Given the description of an element on the screen output the (x, y) to click on. 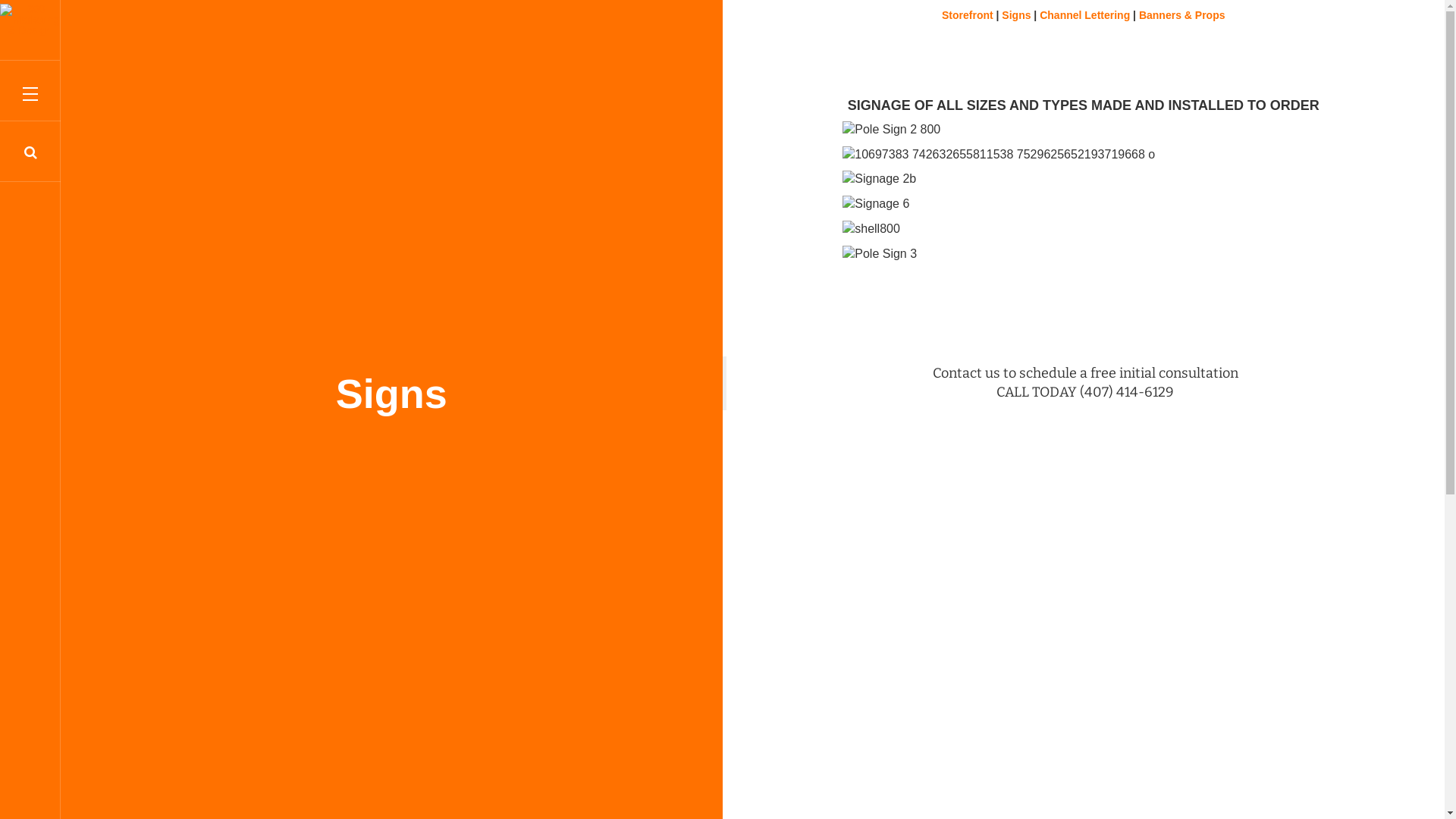
Signs Element type: text (1015, 15)
360 Marketing & Design Element type: hover (29, 19)
Channel Lettering Element type: text (1085, 15)
Storefront Element type: text (967, 15)
Banners & Props Element type: text (1182, 15)
